Given the description of an element on the screen output the (x, y) to click on. 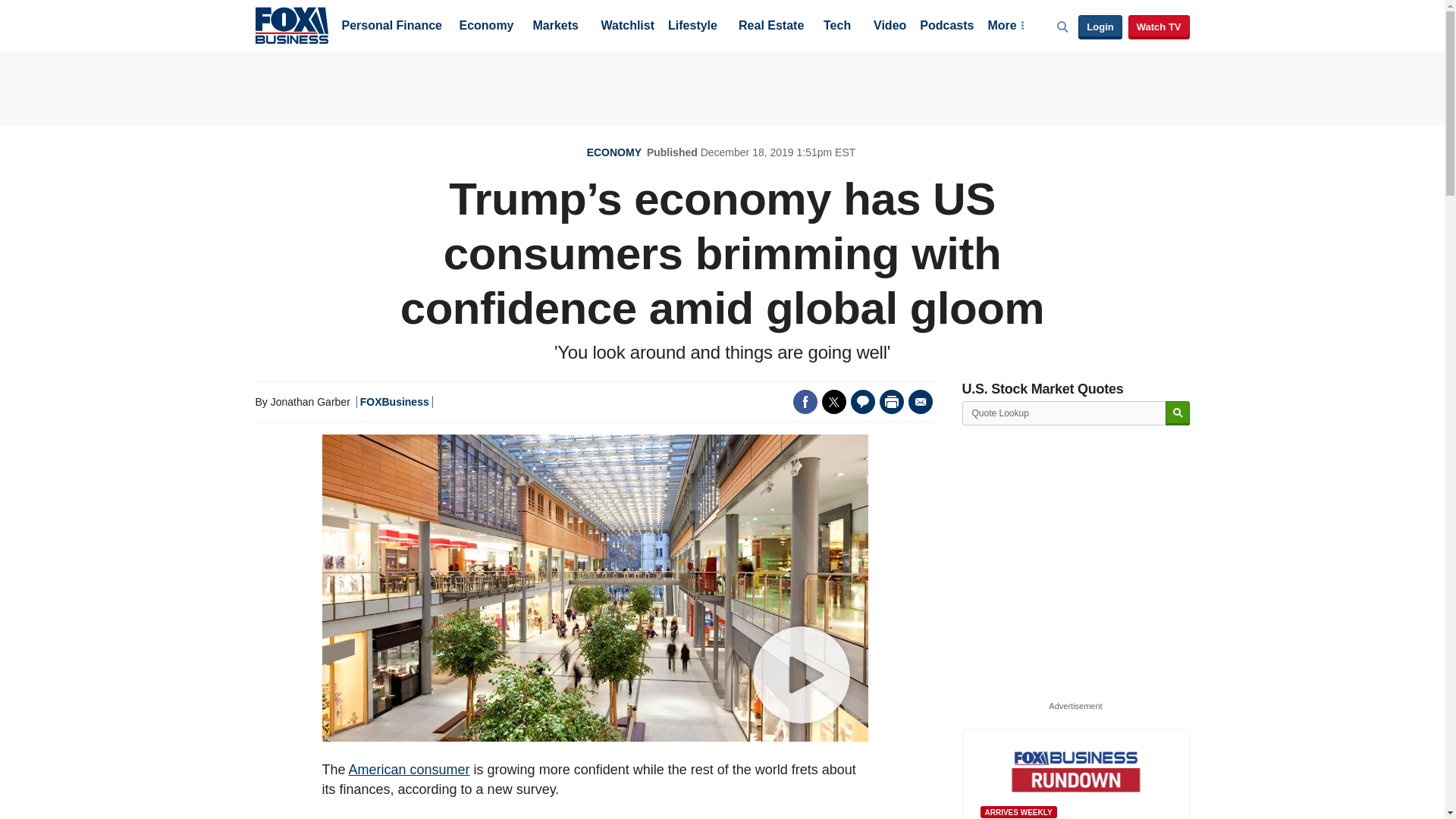
Real Estate (770, 27)
Fox Business (290, 24)
Search (1176, 413)
Markets (555, 27)
Tech (837, 27)
Watchlist (626, 27)
Video (889, 27)
Login (1099, 27)
Podcasts (947, 27)
Search (1176, 413)
Economy (486, 27)
More (1005, 27)
Watch TV (1158, 27)
Personal Finance (391, 27)
Lifestyle (692, 27)
